Given the description of an element on the screen output the (x, y) to click on. 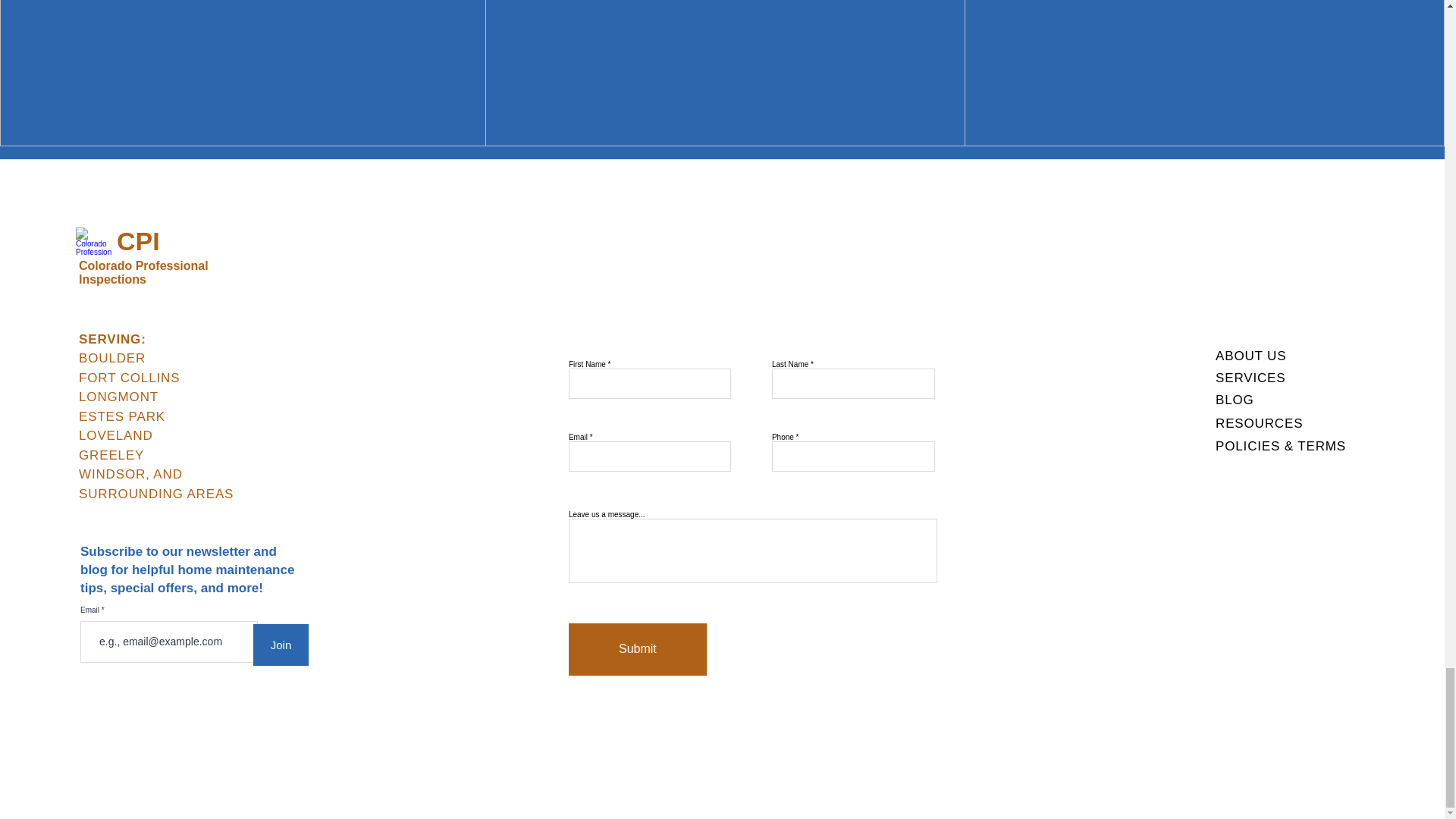
CPI (138, 240)
SERVICES (1250, 377)
ABOUT US (1250, 355)
Colorado Professional Inspections (143, 272)
Join (280, 644)
Submit (637, 649)
